Given the description of an element on the screen output the (x, y) to click on. 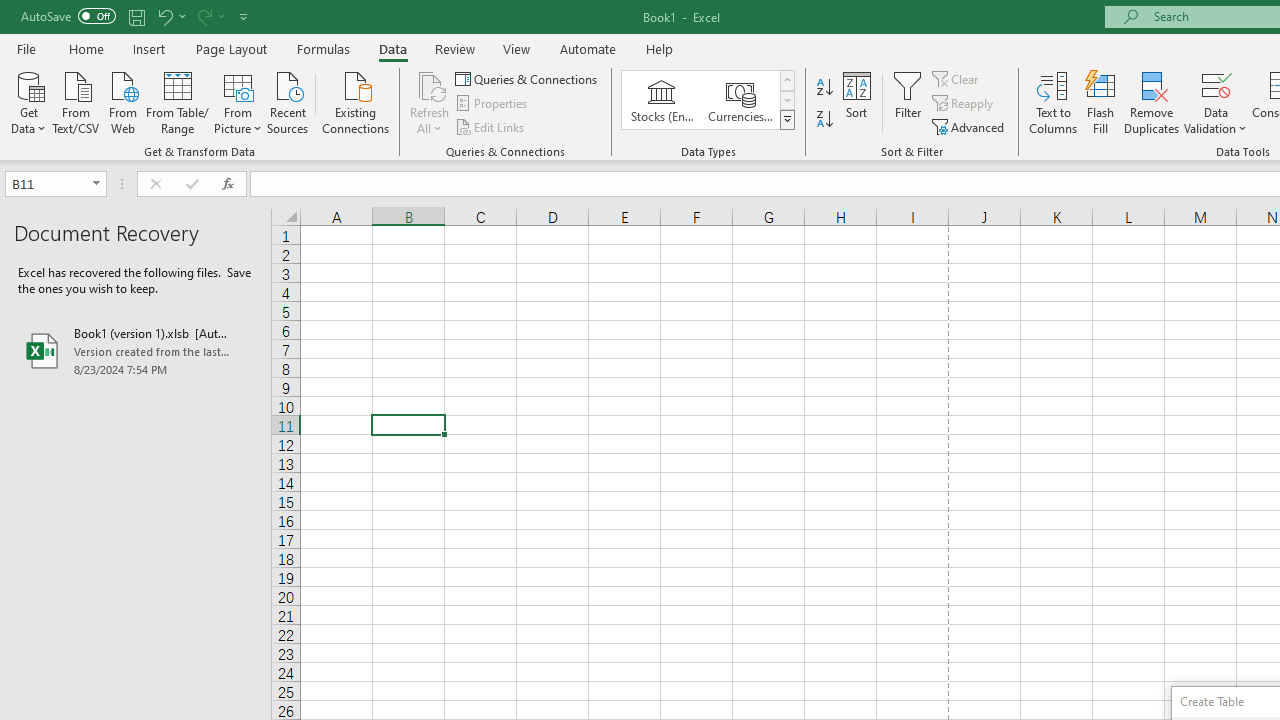
Filter (908, 102)
Currencies (English) (740, 100)
Data (392, 48)
Review (454, 48)
View (517, 48)
Flash Fill (1101, 102)
Existing Connections (355, 101)
Queries & Connections (527, 78)
More Options (1215, 121)
System (10, 11)
Remove Duplicates (1151, 102)
Save (136, 15)
Stocks (English) (662, 100)
Row Down (786, 100)
